Given the description of an element on the screen output the (x, y) to click on. 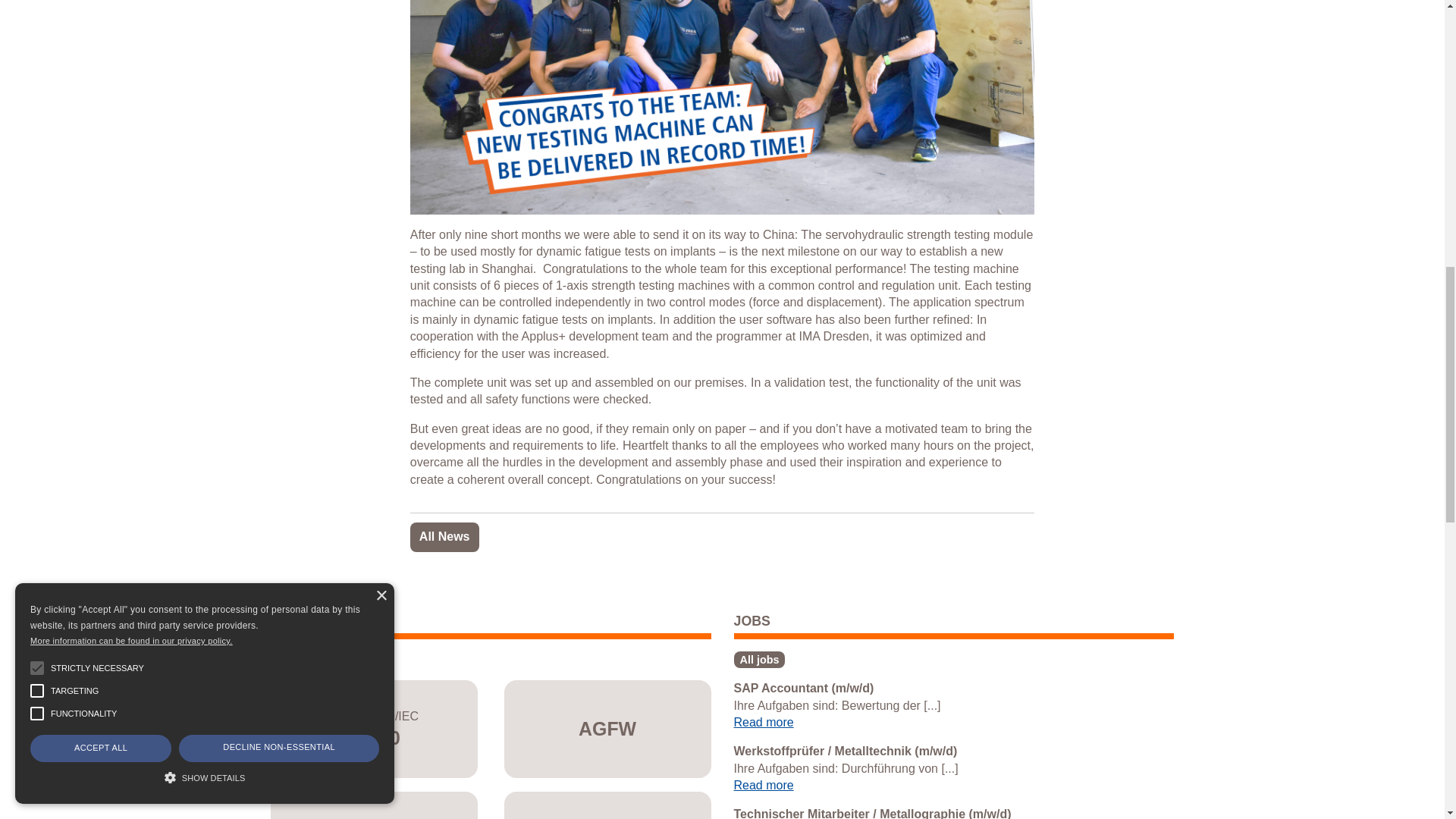
Quality awards (304, 659)
